Given the description of an element on the screen output the (x, y) to click on. 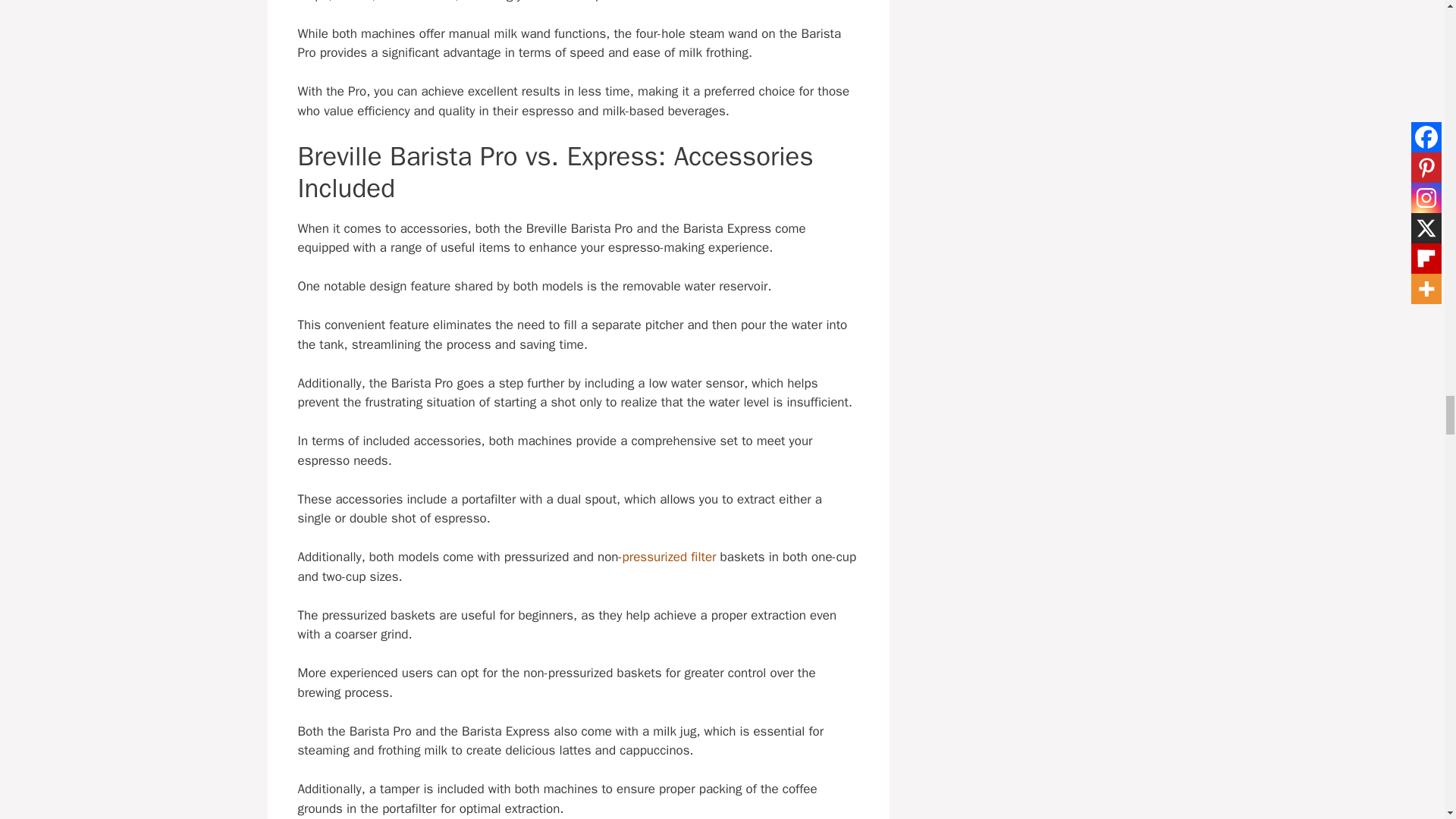
pressurized filter (669, 556)
